Given the description of an element on the screen output the (x, y) to click on. 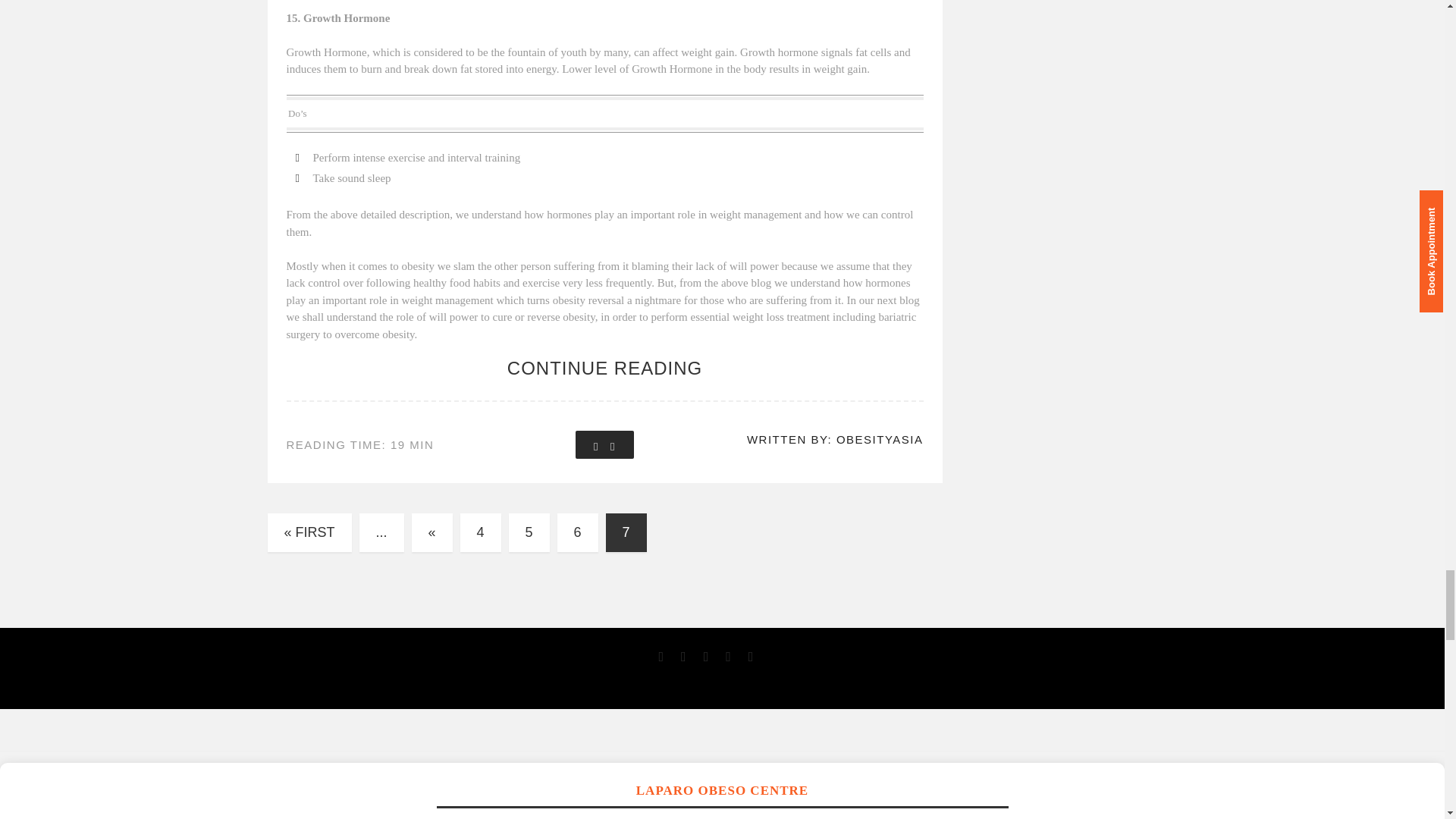
6 (577, 532)
5 (529, 532)
4 (480, 532)
Role of Hormones in Weight Loss Management (603, 368)
